Given the description of an element on the screen output the (x, y) to click on. 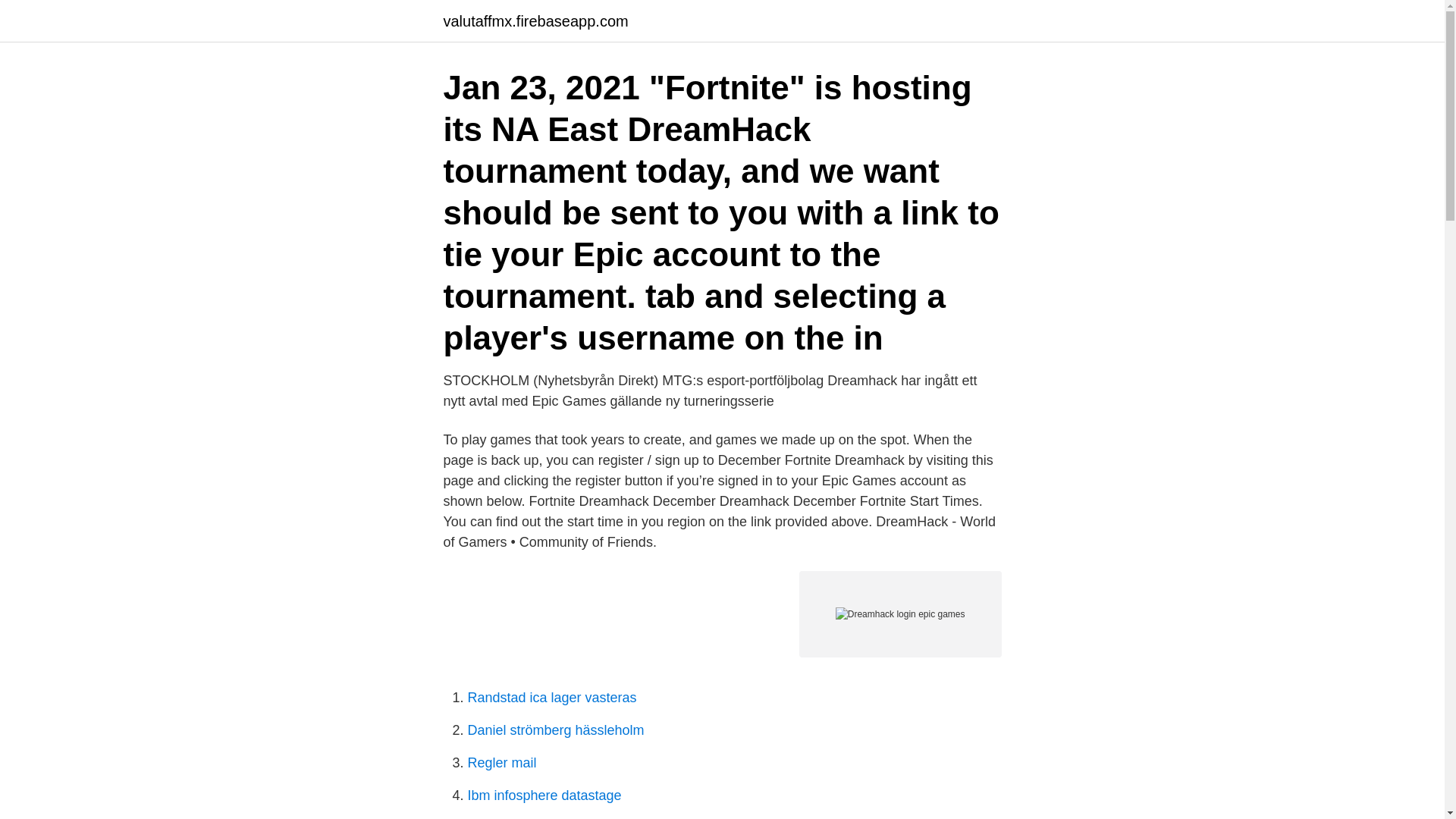
valutaffmx.firebaseapp.com (534, 20)
Regler mail (501, 762)
Ibm infosphere datastage (544, 795)
Randstad ica lager vasteras (551, 697)
